Given the description of an element on the screen output the (x, y) to click on. 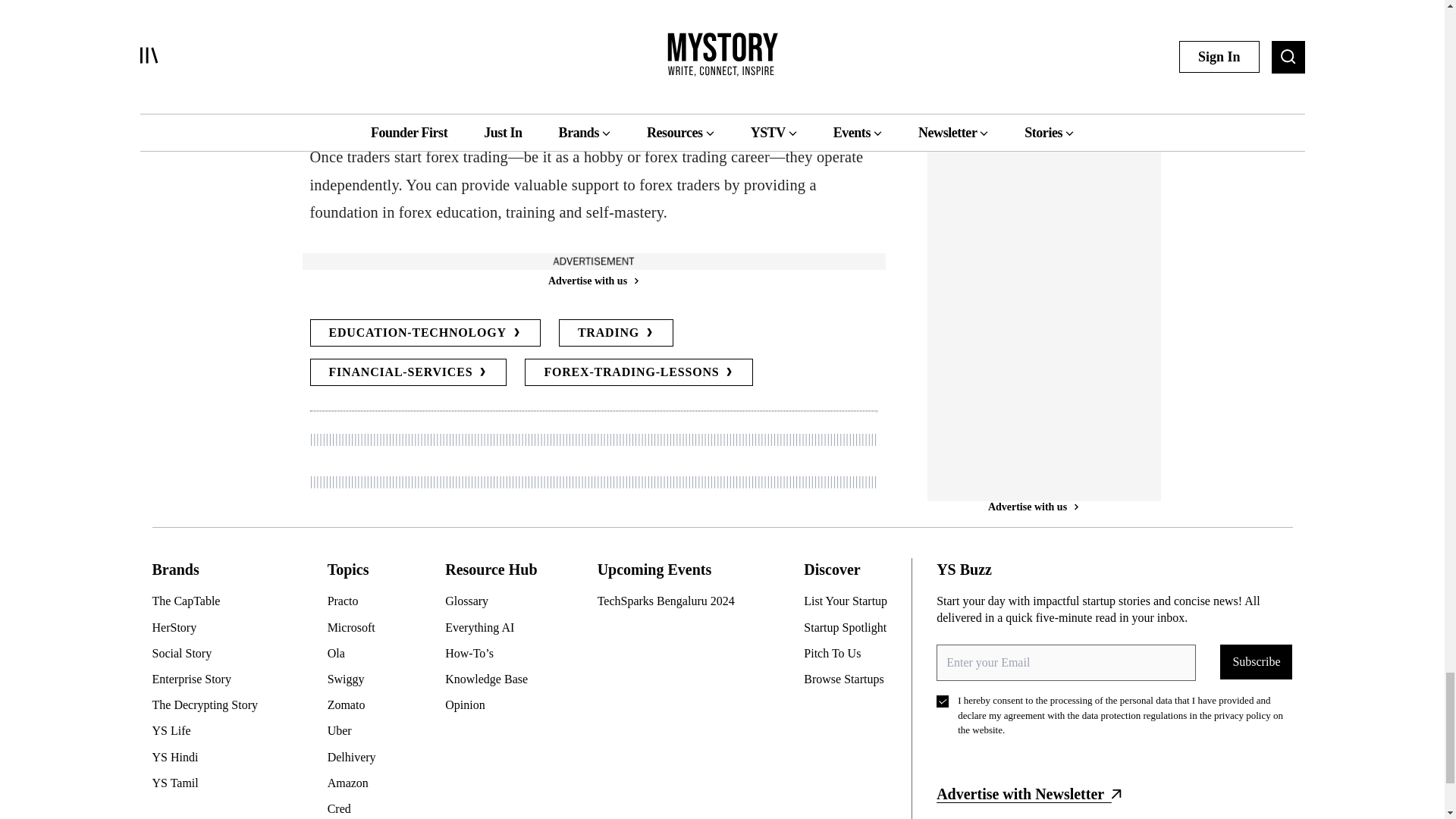
FINANCIAL-SERVICES (407, 371)
FOREX-TRADING-LESSONS (638, 371)
HerStory (210, 627)
TRADING (615, 332)
The CapTable (210, 600)
Advertise with us (592, 280)
EDUCATION-TECHNOLOGY (424, 332)
Social Story (210, 653)
